Given the description of an element on the screen output the (x, y) to click on. 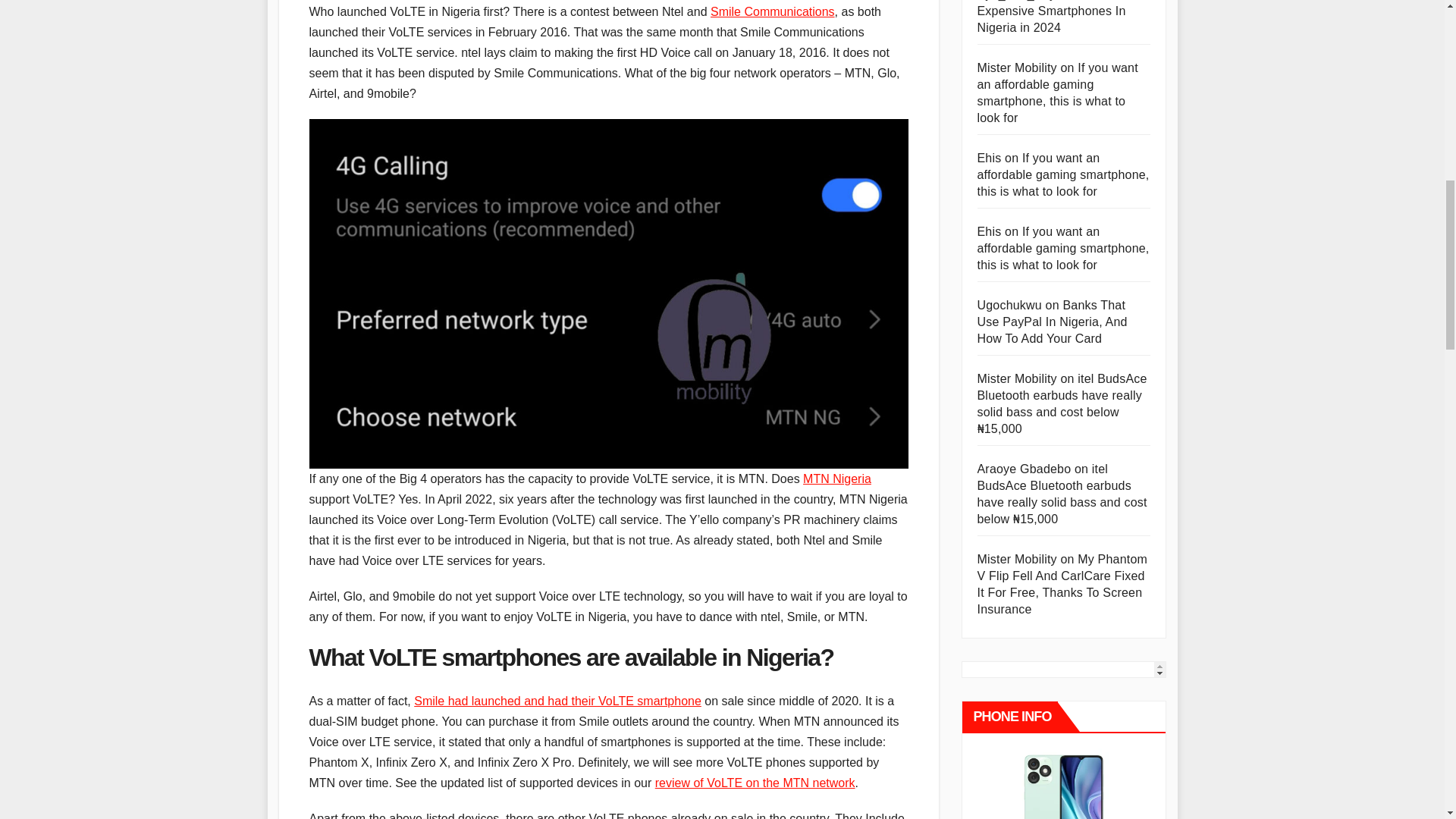
Smile had launched and had their VoLTE smartphone (557, 700)
review of VoLTE on the MTN network (755, 782)
Smile Communications (772, 11)
MTN Nigeria (836, 478)
